Given the description of an element on the screen output the (x, y) to click on. 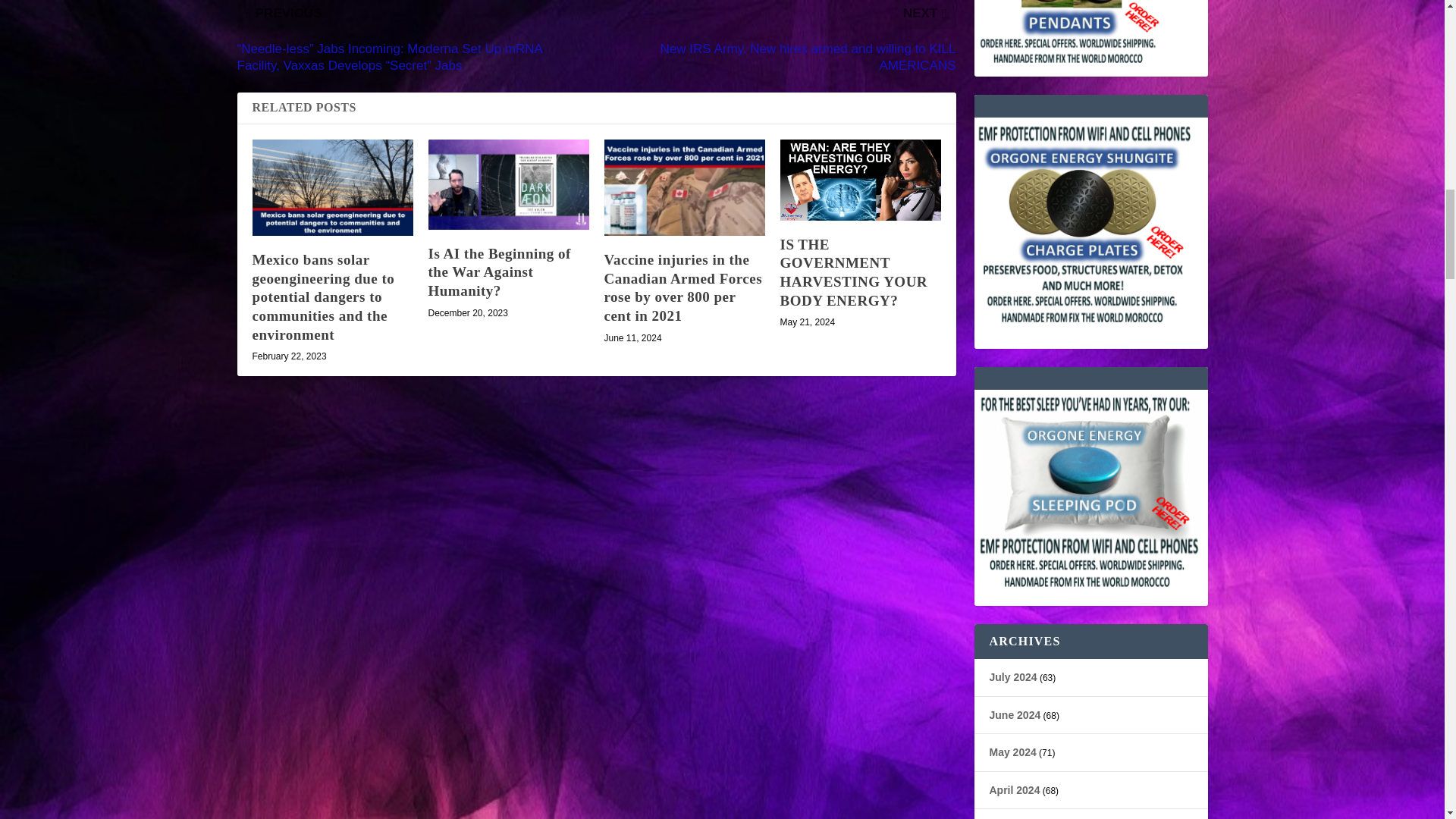
IS THE GOVERNMENT HARVESTING YOUR BODY ENERGY? (859, 179)
Is AI the Beginning of the War Against Humanity? (499, 271)
IS THE GOVERNMENT HARVESTING YOUR BODY ENERGY? (852, 272)
Is AI the Beginning of the War Against Humanity? (508, 184)
